Given the description of an element on the screen output the (x, y) to click on. 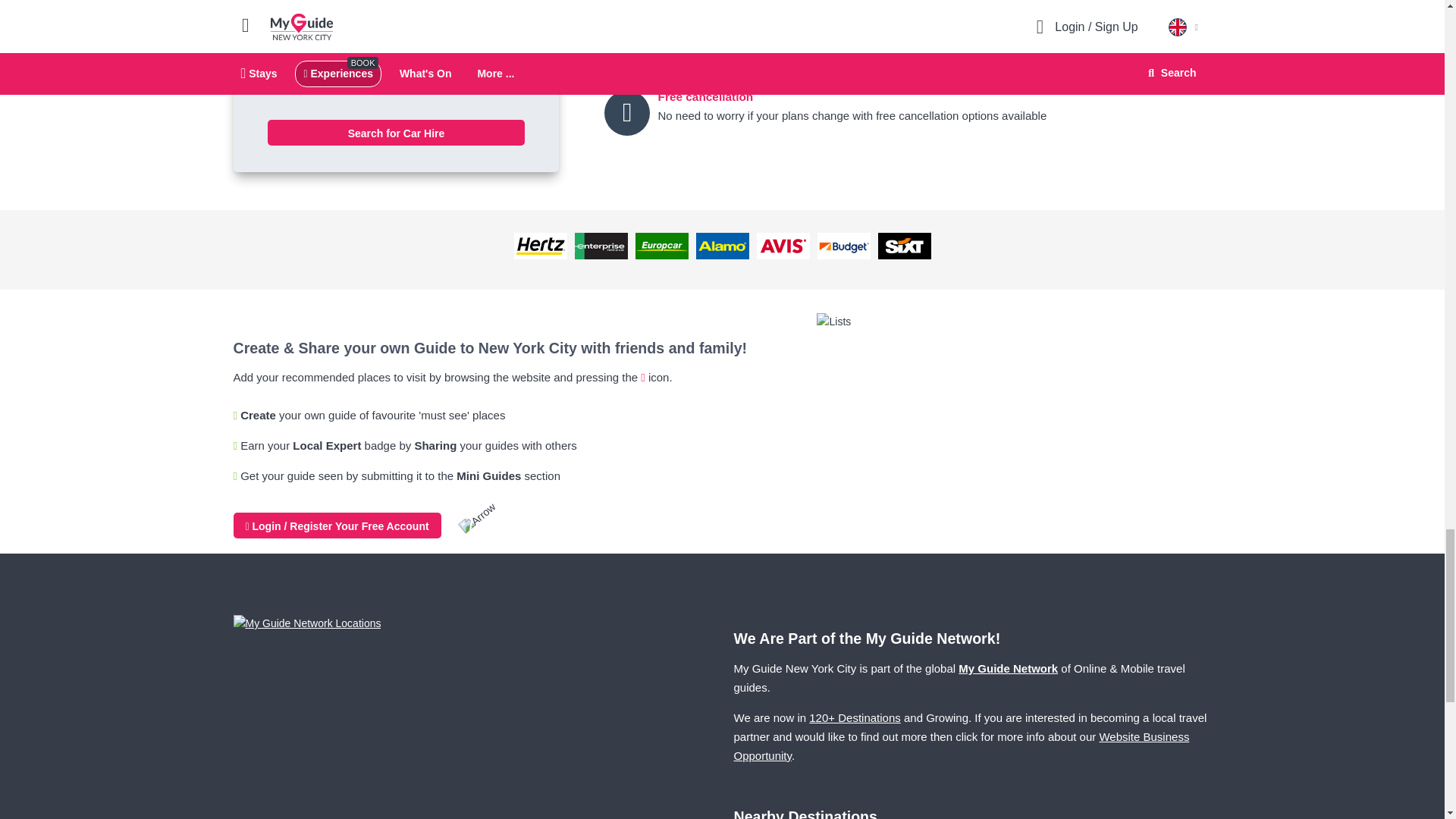
on (271, 87)
